Given the description of an element on the screen output the (x, y) to click on. 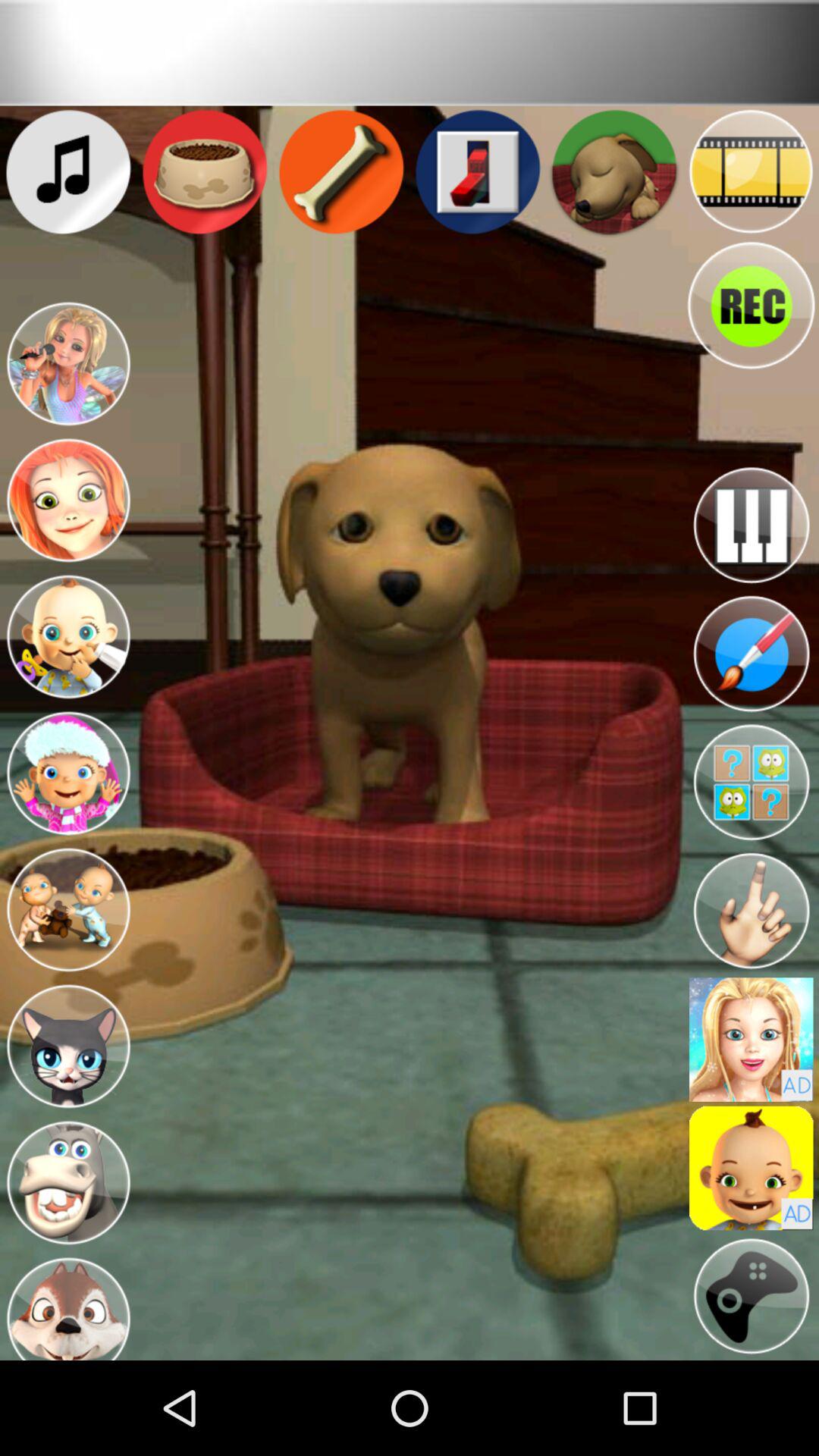
cat (68, 1046)
